Given the description of an element on the screen output the (x, y) to click on. 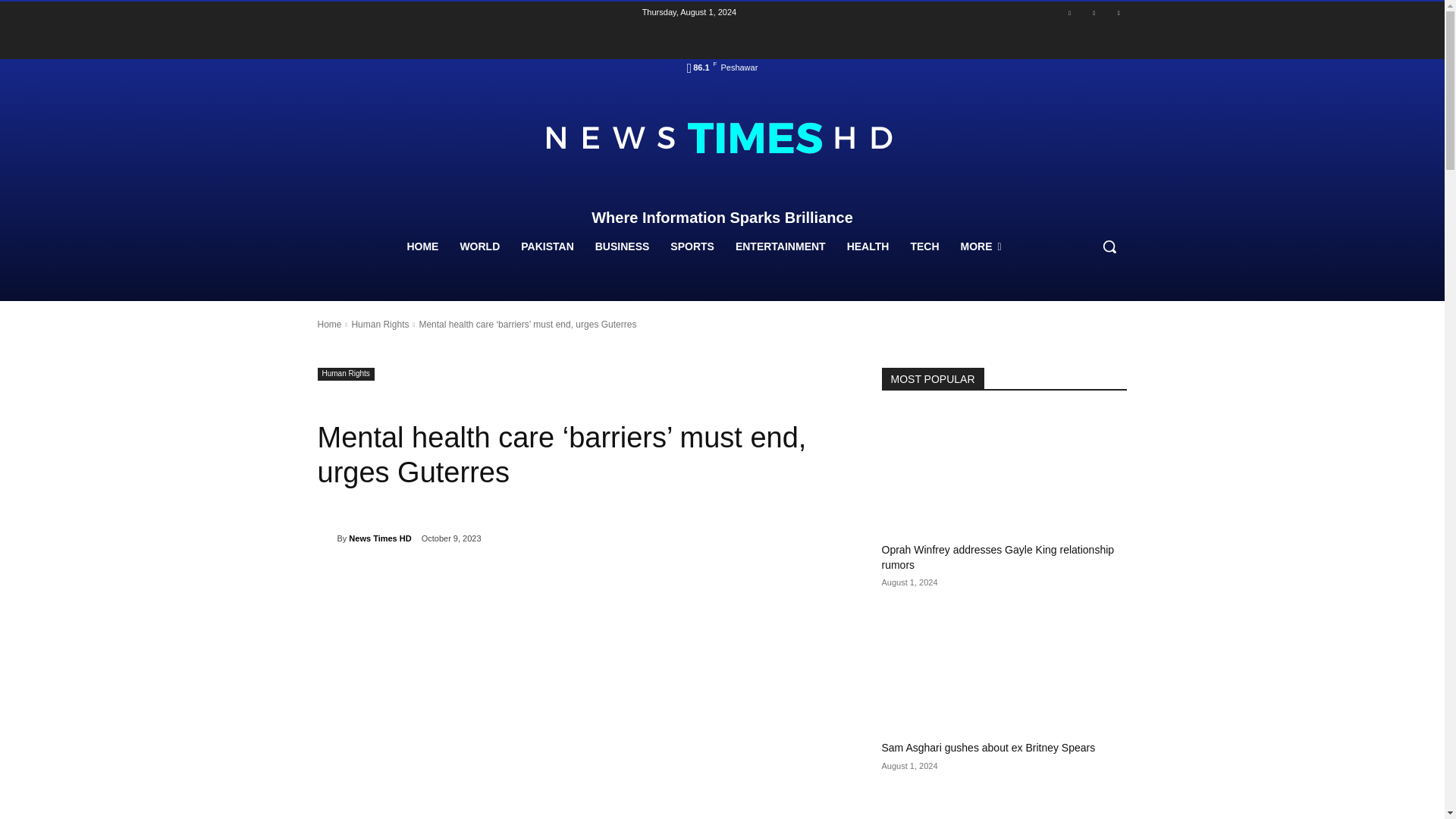
HOME (422, 246)
ENTERTAINMENT (780, 246)
View all posts in Human Rights (379, 324)
PAKISTAN (547, 246)
News Times HD (326, 538)
MORE (980, 246)
Facebook (1069, 13)
BUSINESS (623, 246)
Instagram (1094, 13)
Twitter (1117, 13)
WORLD (479, 246)
TECH (924, 246)
SPORTS (692, 246)
HEALTH (867, 246)
